Given the description of an element on the screen output the (x, y) to click on. 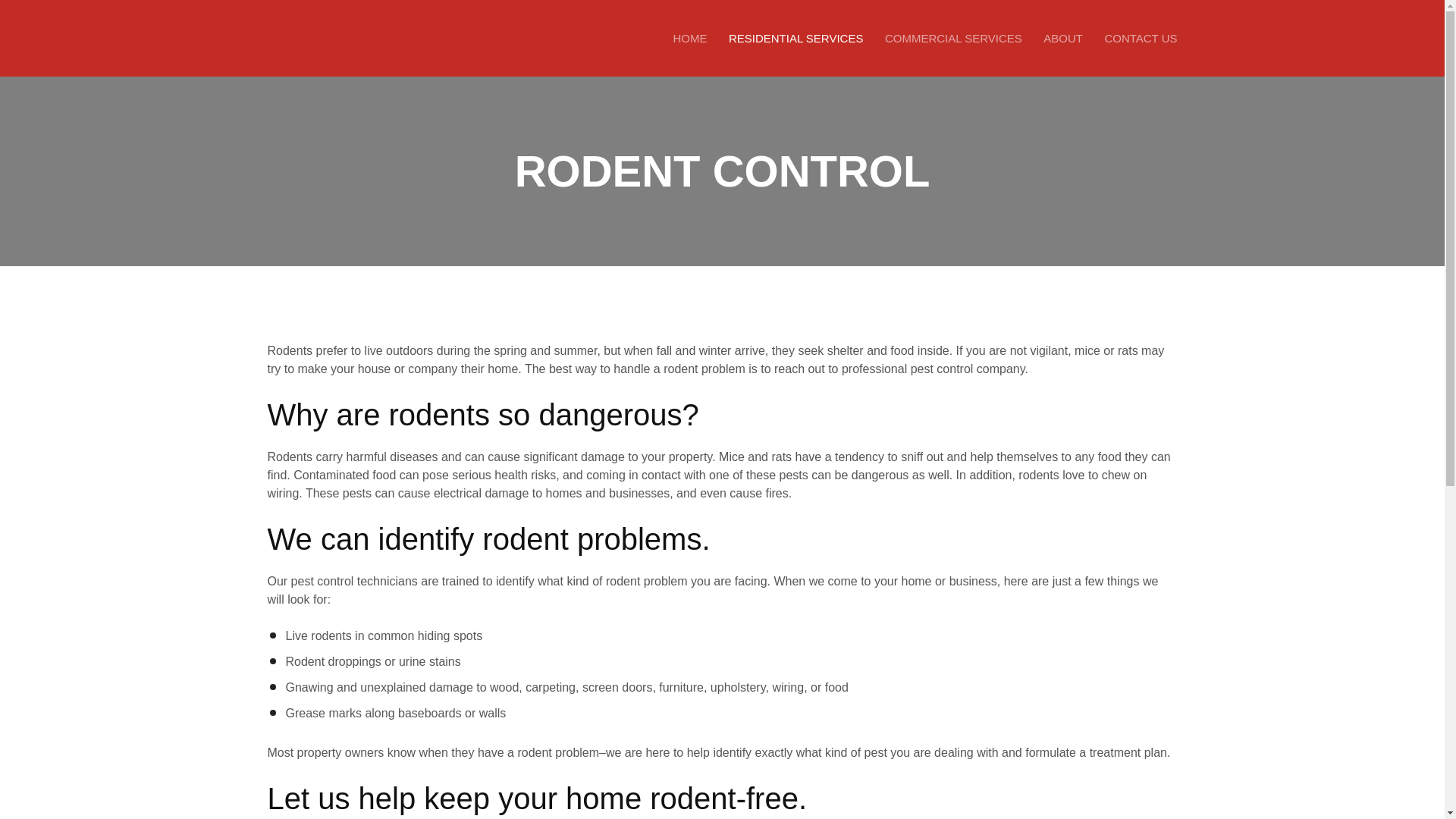
ABOUT (1062, 38)
Superior Exterminating (365, 38)
COMMERCIAL SERVICES (953, 38)
RESIDENTIAL SERVICES (795, 38)
CONTACT US (1135, 38)
HOME (689, 38)
